Given the description of an element on the screen output the (x, y) to click on. 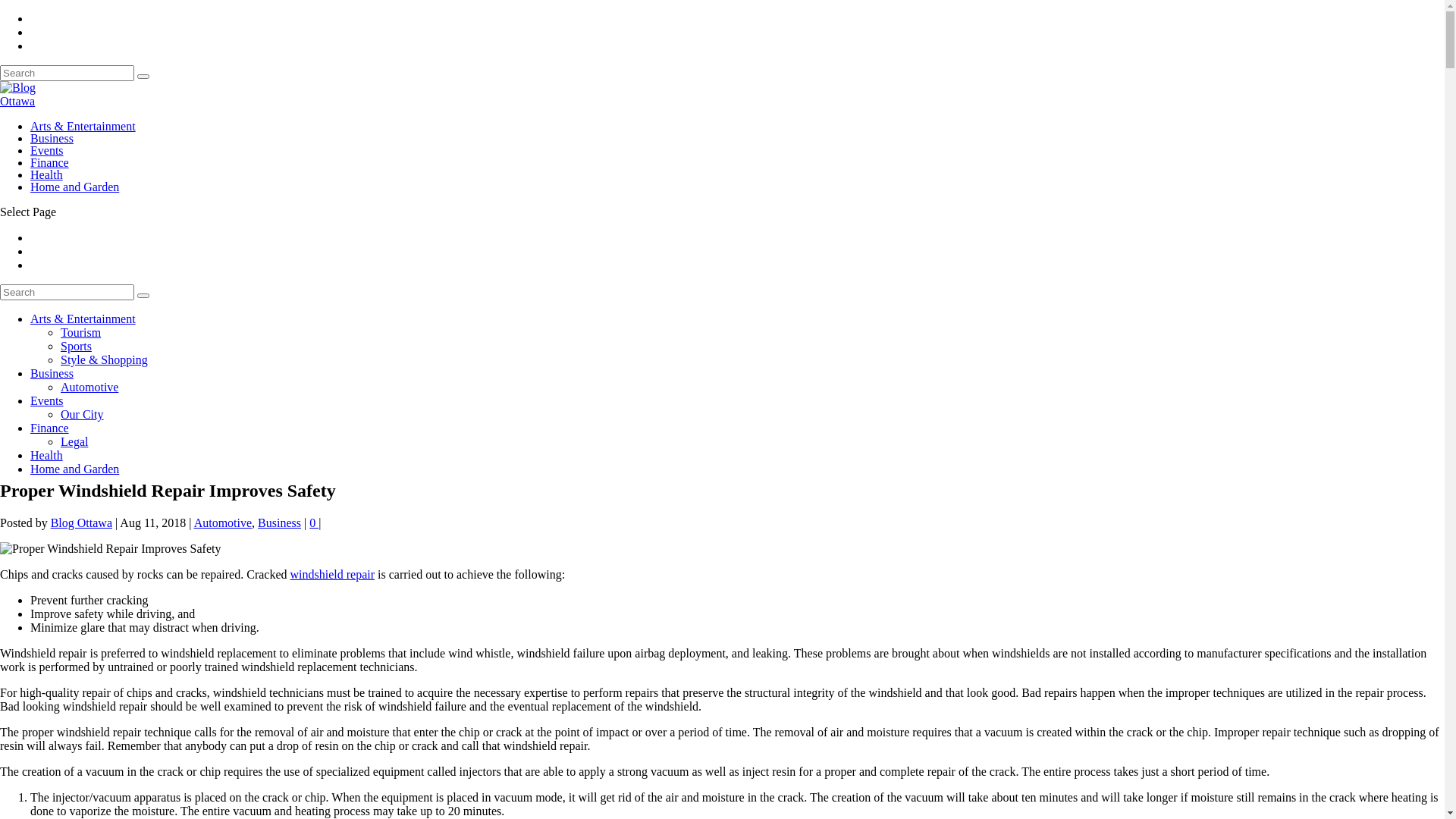
Business Element type: text (51, 373)
0 Element type: text (313, 522)
Tourism Element type: text (80, 332)
Finance Element type: text (49, 427)
Automotive Element type: text (89, 386)
Search for: Element type: hover (67, 73)
Business Element type: text (279, 522)
Home and Garden Element type: text (74, 468)
Style & Shopping Element type: text (103, 359)
Our City Element type: text (81, 413)
Finance Element type: text (49, 162)
Arts & Entertainment Element type: text (82, 318)
Blog Ottawa Element type: text (81, 522)
Home and Garden Element type: text (74, 186)
Legal Element type: text (73, 441)
Events Element type: text (46, 400)
Health Element type: text (46, 174)
windshield repair Element type: text (332, 573)
Automotive Element type: text (222, 522)
Search for: Element type: hover (67, 292)
Arts & Entertainment Element type: text (82, 125)
Sports Element type: text (75, 345)
Events Element type: text (46, 150)
Business Element type: text (51, 137)
Health Element type: text (46, 454)
